Given the description of an element on the screen output the (x, y) to click on. 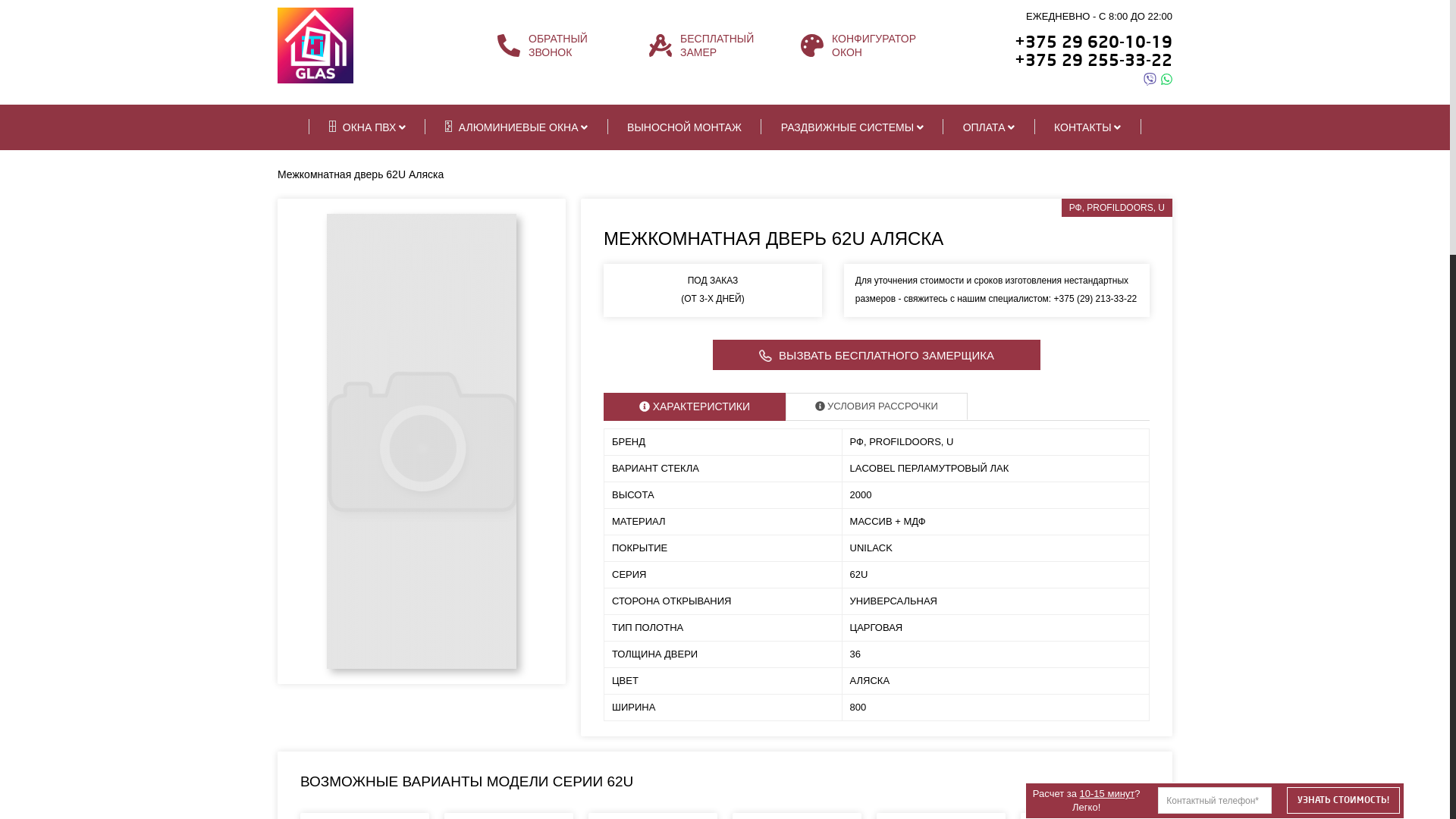
+375 29 255-33-22 Element type: text (1093, 59)
+375 29 620-10-19 Element type: text (1093, 41)
